Given the description of an element on the screen output the (x, y) to click on. 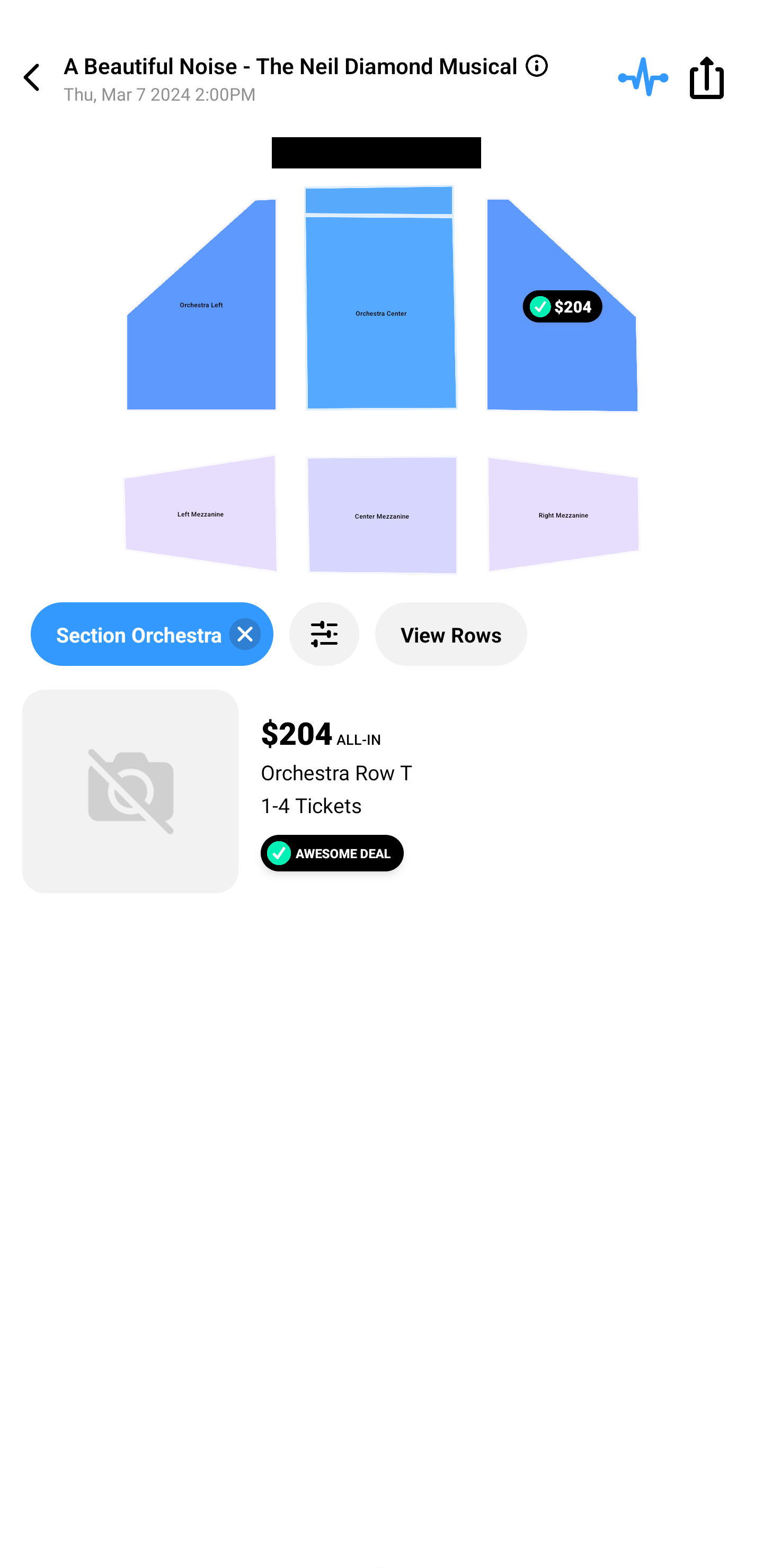
Section Orchestra (151, 634)
View Rows (451, 634)
AWESOME DEAL (331, 852)
